Given the description of an element on the screen output the (x, y) to click on. 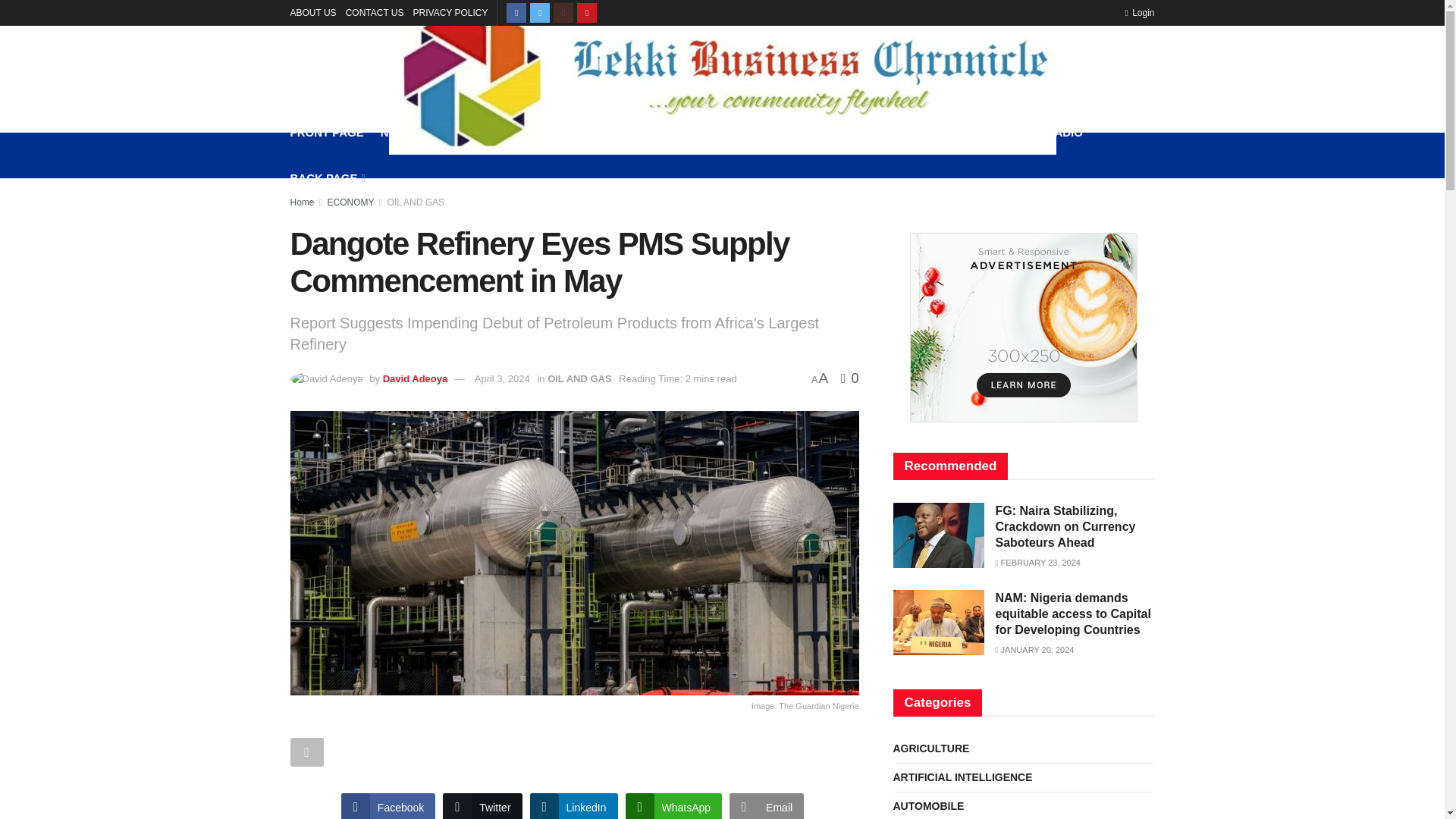
ECONOMY (468, 132)
Login (1139, 12)
ABOUT US (312, 12)
NEWS (400, 132)
CONTACT US (375, 12)
FRONT PAGE (325, 132)
PRIVACY POLICY (450, 12)
